Given the description of an element on the screen output the (x, y) to click on. 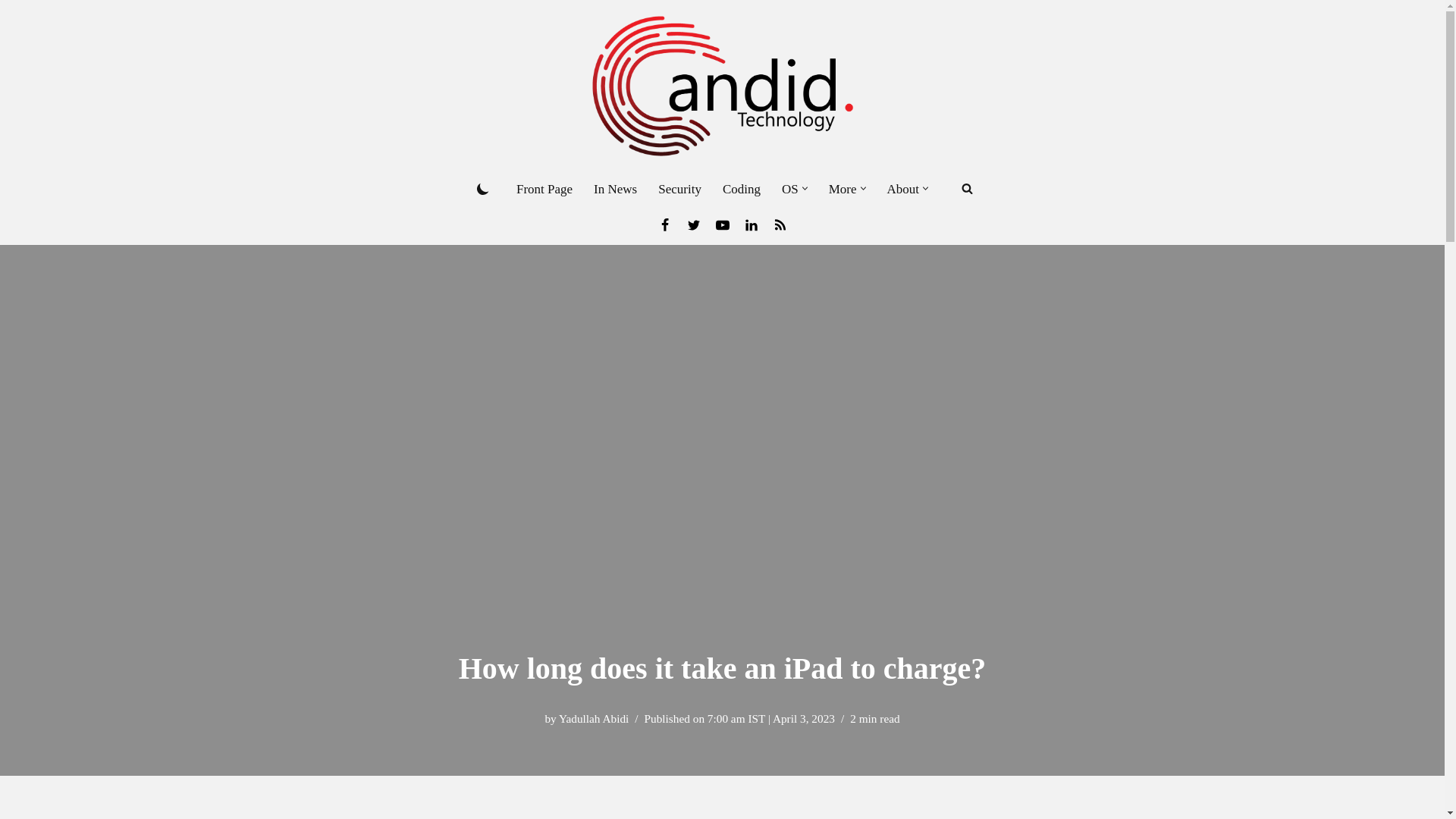
News (779, 224)
Linkedin (750, 224)
Facebook (664, 224)
Youtube (721, 224)
Security (679, 188)
Twitter (692, 224)
More (842, 188)
Posts by Yadullah Abidi (593, 717)
About (903, 188)
In News (615, 188)
